Given the description of an element on the screen output the (x, y) to click on. 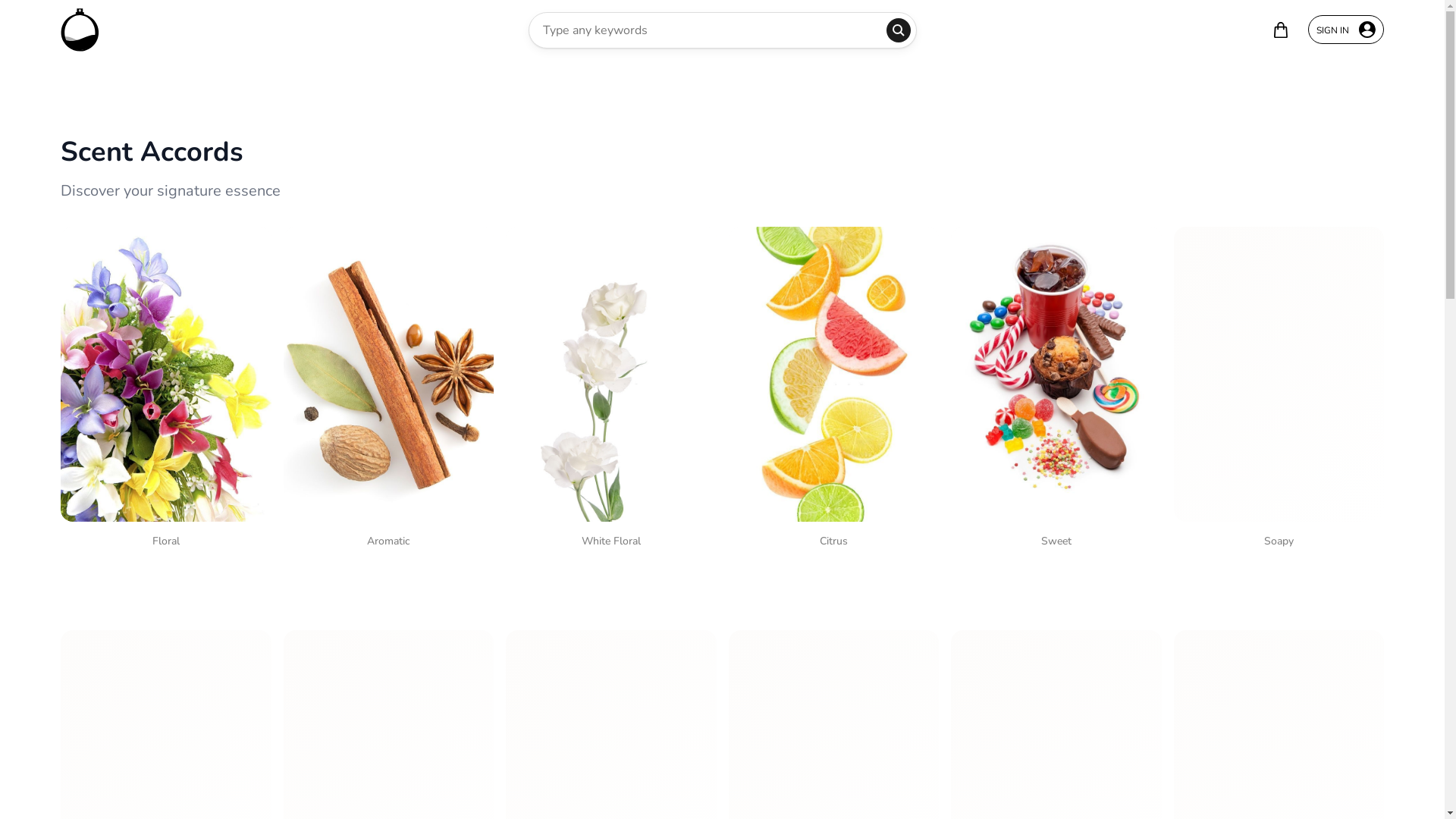
Sweet Element type: text (1055, 390)
Aromatic Element type: text (388, 390)
SIGN IN Element type: text (1345, 29)
White Floral Element type: text (610, 390)
Citrus Element type: text (833, 390)
Floral Element type: text (165, 390)
Soapy Element type: text (1278, 390)
